Given the description of an element on the screen output the (x, y) to click on. 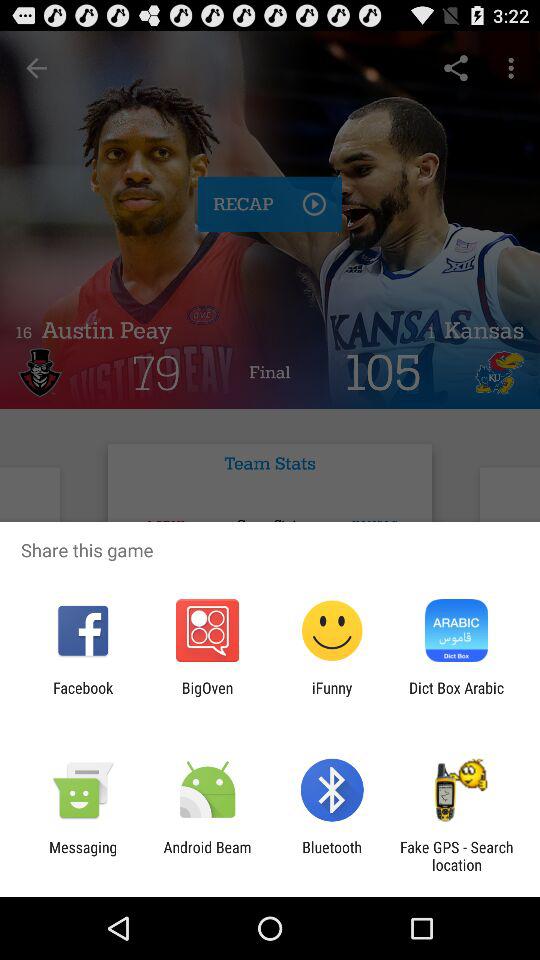
turn off item next to the dict box arabic app (332, 696)
